Given the description of an element on the screen output the (x, y) to click on. 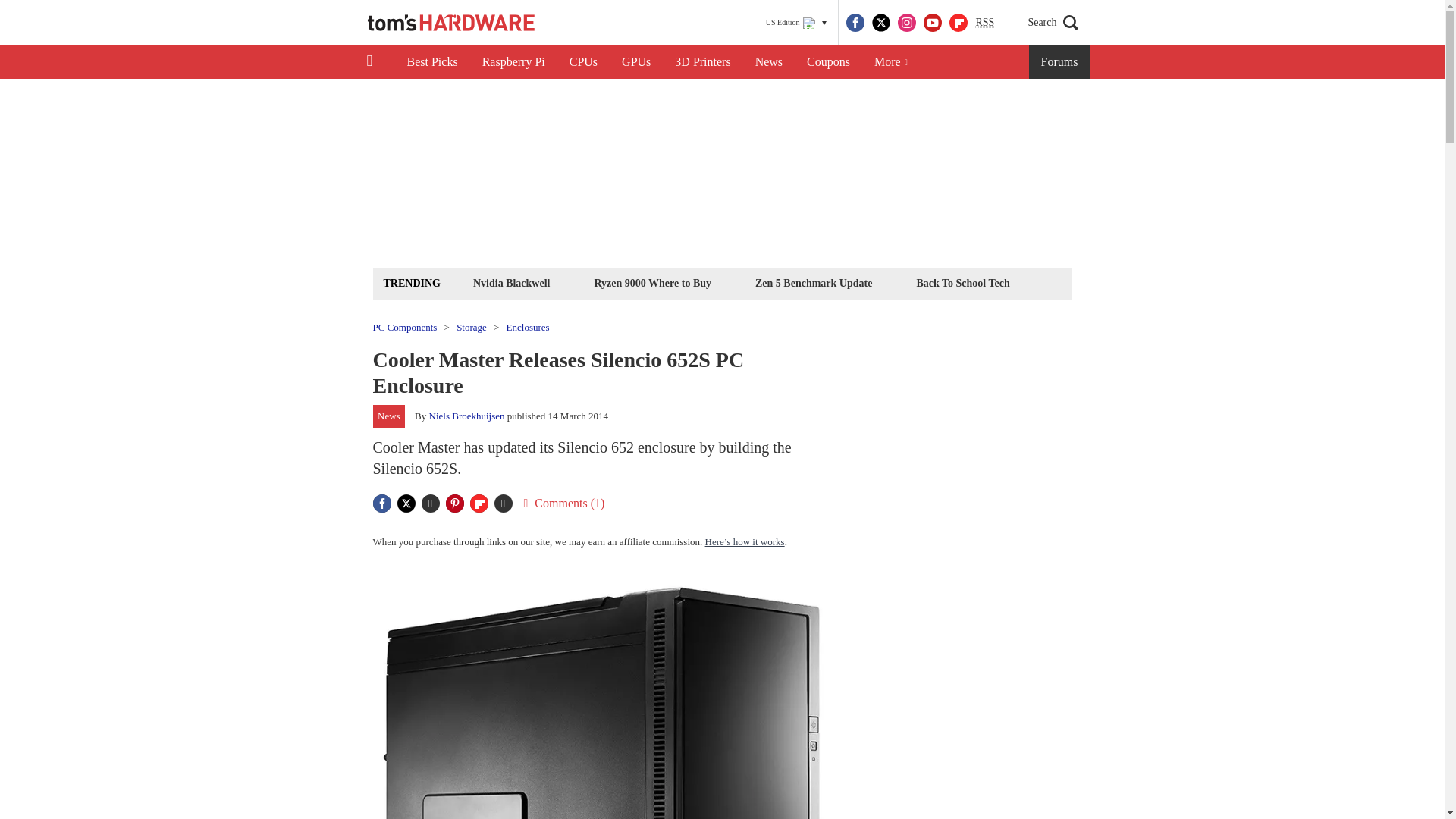
RSS (984, 22)
Really Simple Syndication (984, 21)
Best Picks (431, 61)
Raspberry Pi (513, 61)
US Edition (796, 22)
3D Printers (702, 61)
GPUs (636, 61)
News (768, 61)
Forums (1059, 61)
CPUs (583, 61)
